Given the description of an element on the screen output the (x, y) to click on. 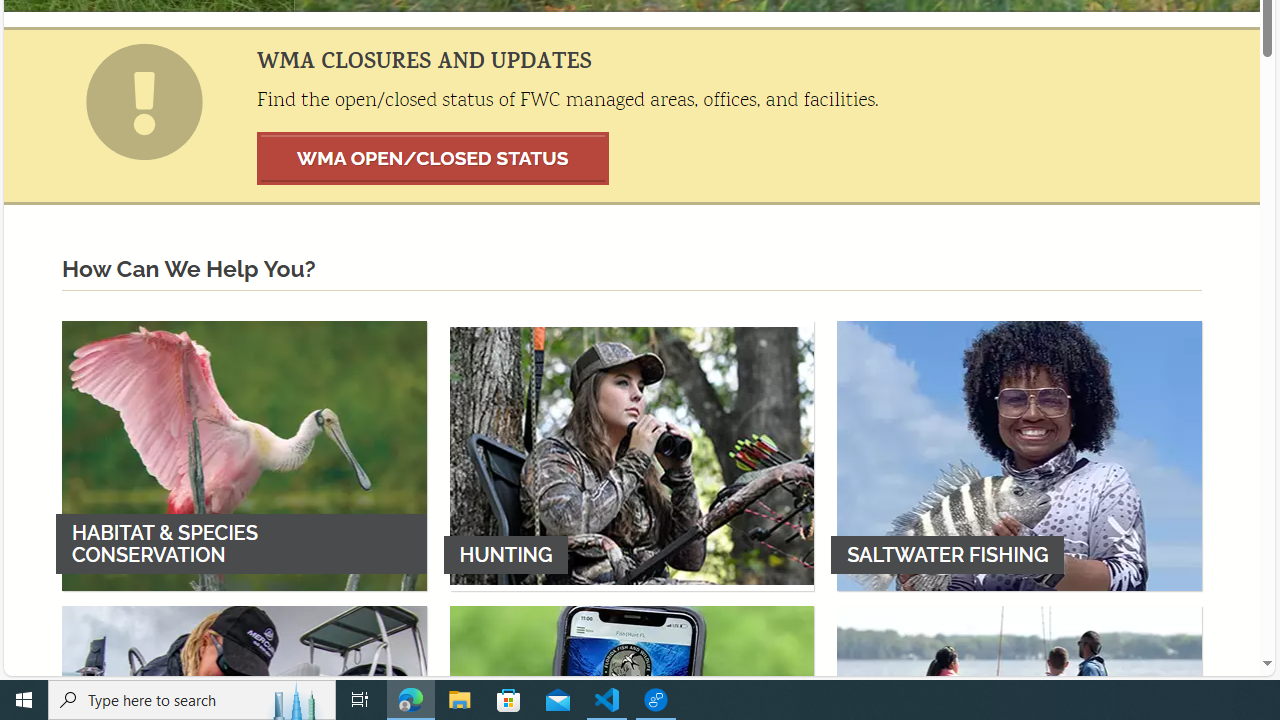
HABITAT & SPECIES CONSERVATION (244, 455)
HUNTING (632, 455)
WMA OPEN/CLOSED STATUS (433, 158)
SALTWATER FISHING (1019, 455)
